Given the description of an element on the screen output the (x, y) to click on. 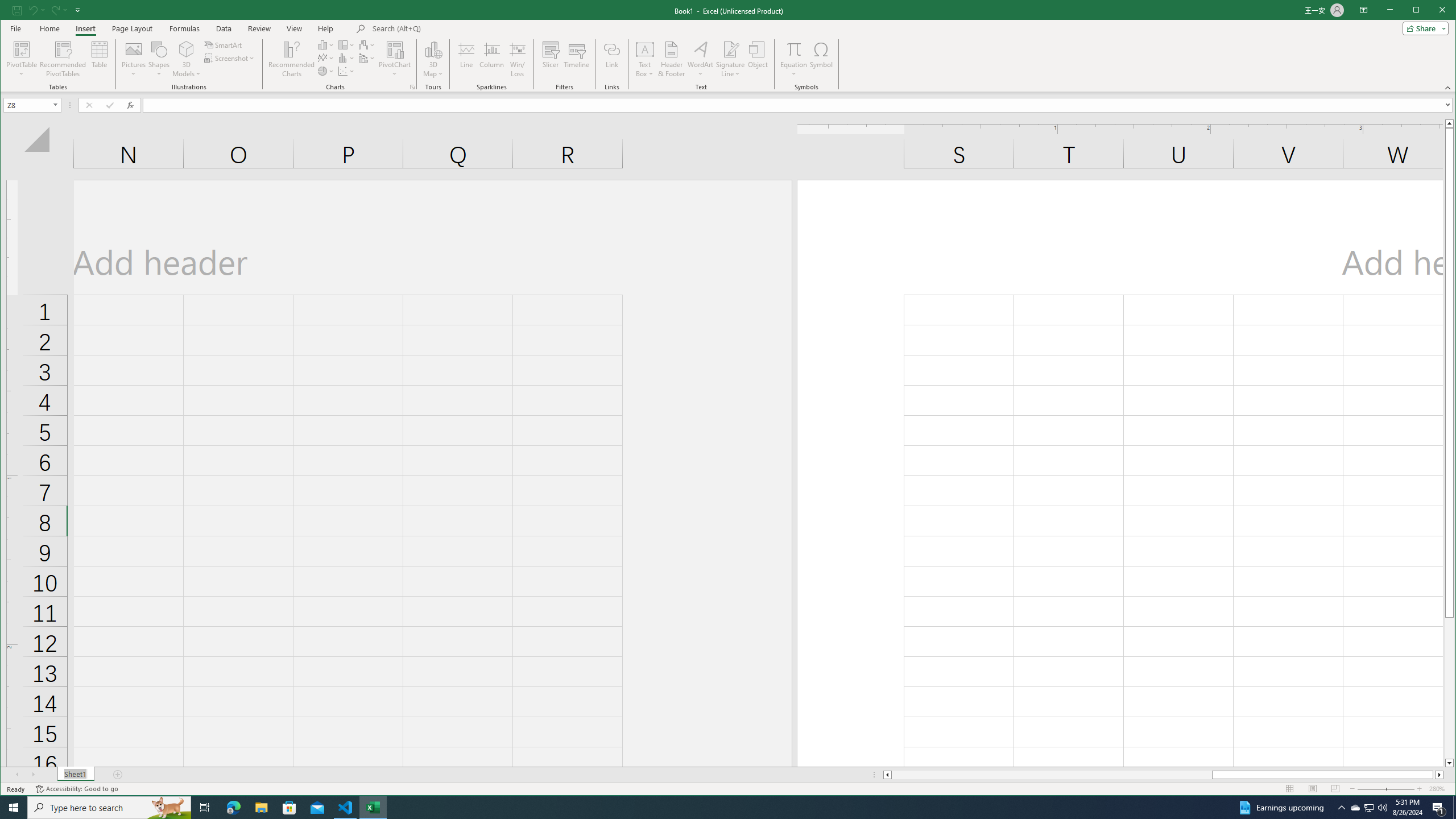
Equation (793, 48)
Search highlights icon opens search home window (167, 807)
Sheet Tab (75, 774)
PivotChart (394, 59)
Pictures (133, 59)
Action Center, 1 new notification (1439, 807)
